Given the description of an element on the screen output the (x, y) to click on. 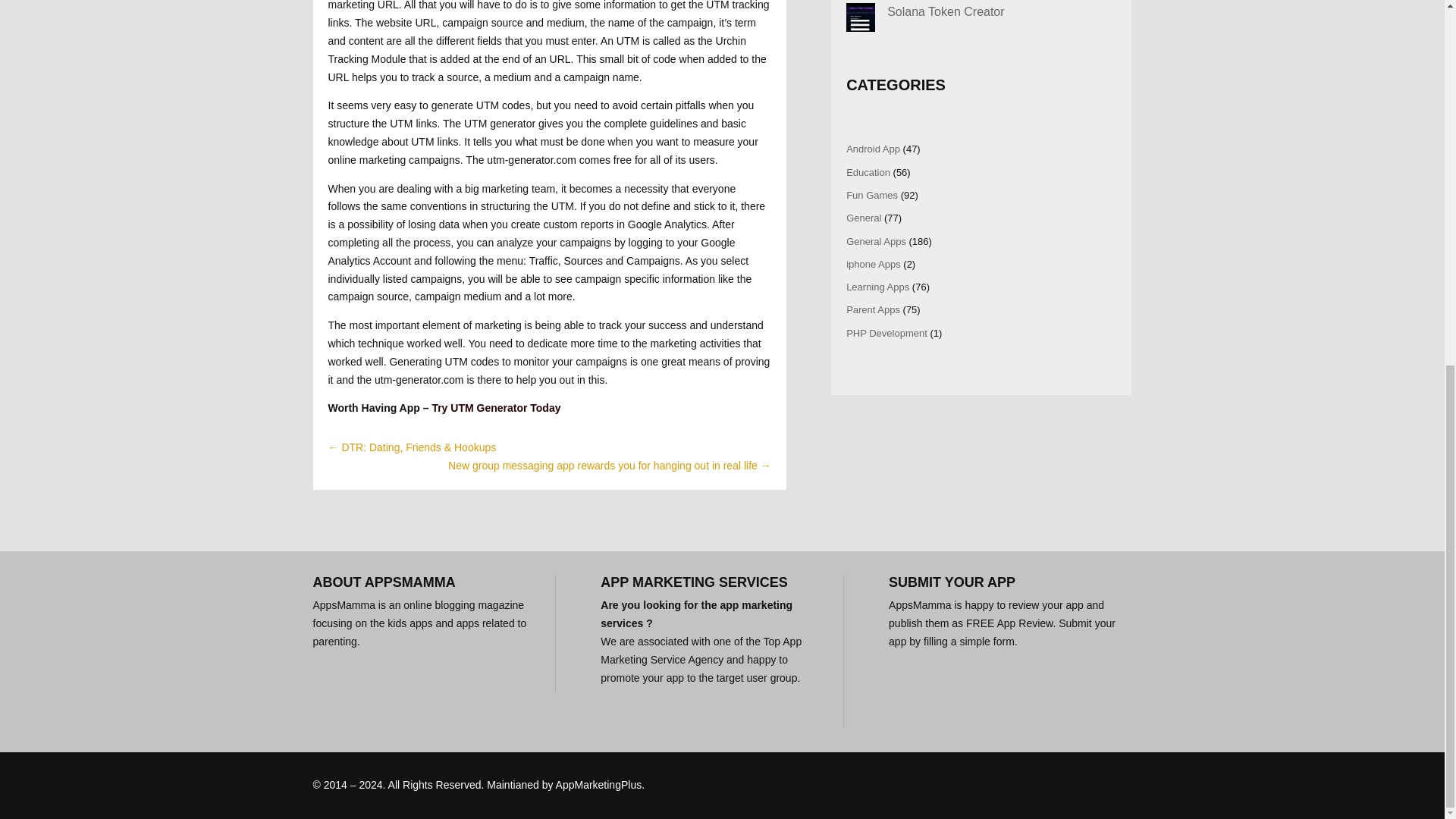
Education (867, 172)
Solana Token Creator (945, 11)
Try UTM Generator Today (495, 408)
Android App (872, 148)
